Given the description of an element on the screen output the (x, y) to click on. 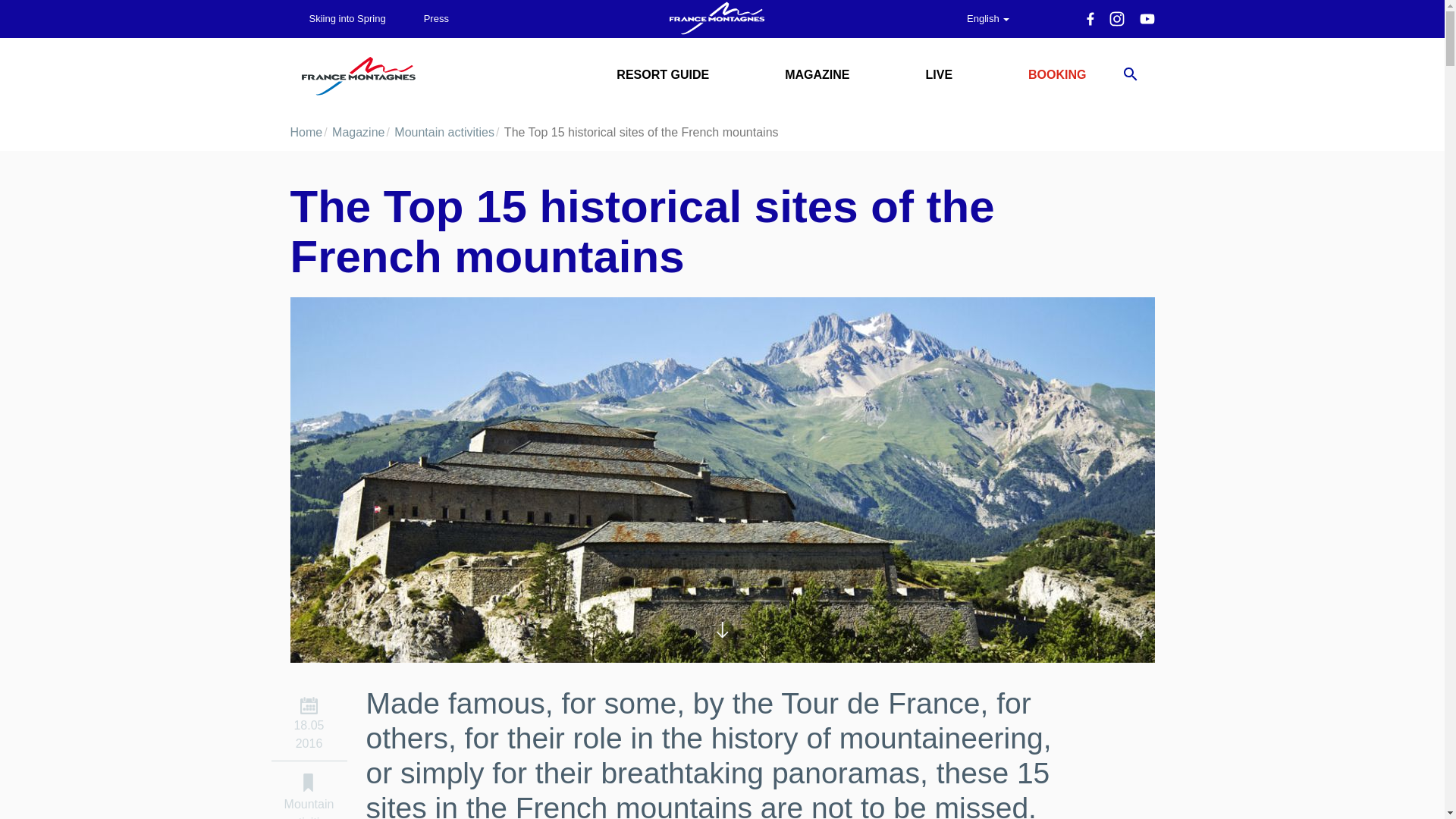
English (987, 18)
Press (435, 18)
Welcome (358, 75)
MAGAZINE (817, 74)
RESORT GUIDE (662, 74)
LIVE (939, 74)
Welcome (715, 18)
Skiing into Spring (346, 18)
